Given the description of an element on the screen output the (x, y) to click on. 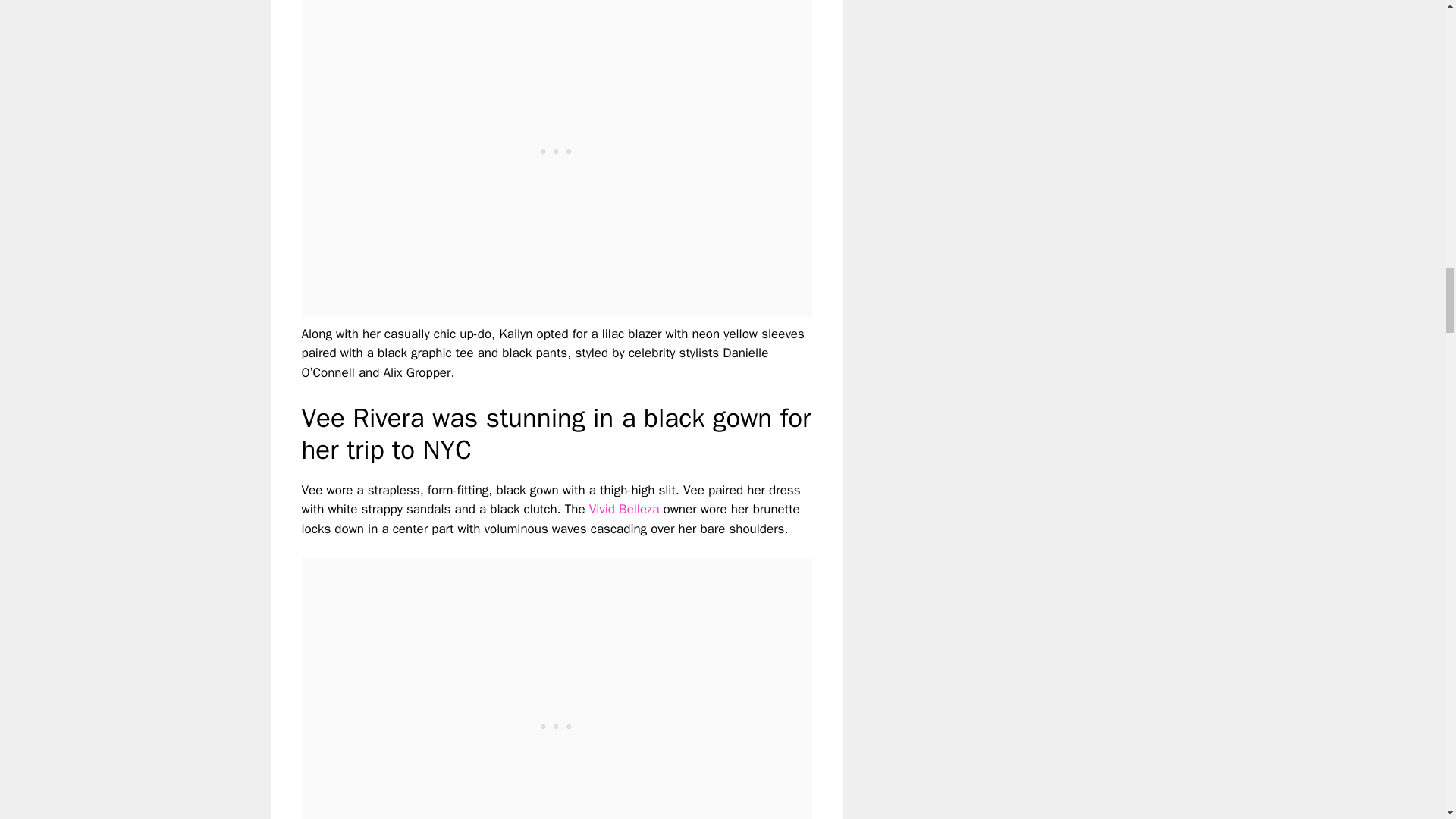
Vivid Belleza (624, 508)
